Given the description of an element on the screen output the (x, y) to click on. 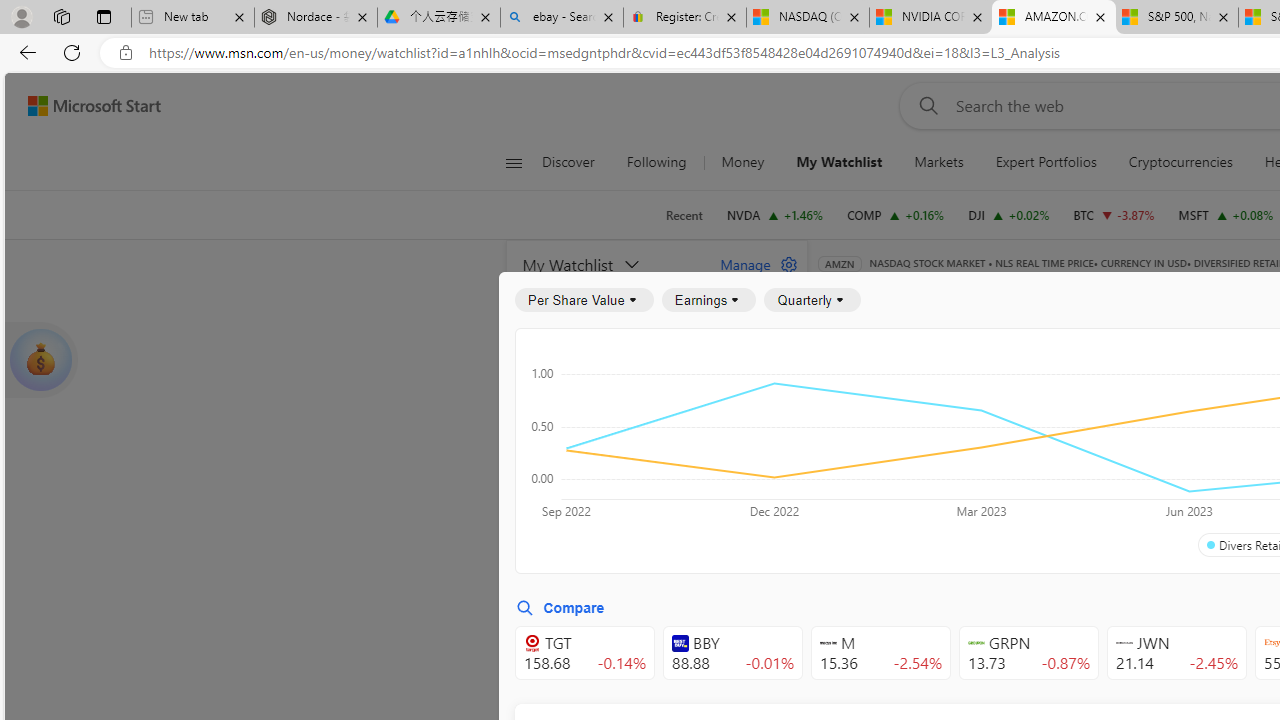
BTC Bitcoin decrease 60,049.35 -2,320.91 -3.87% (1114, 214)
COMP NASDAQ increase 17,754.82 +29.06 +0.16% (895, 214)
Money (742, 162)
Manage (751, 264)
add to your watchlist (786, 680)
Class: button-glyph (513, 162)
My Watchlist (610, 264)
Key Ratios (867, 391)
ebay - Search (561, 17)
New tab - Sleeping (192, 17)
Recent (683, 215)
